Given the description of an element on the screen output the (x, y) to click on. 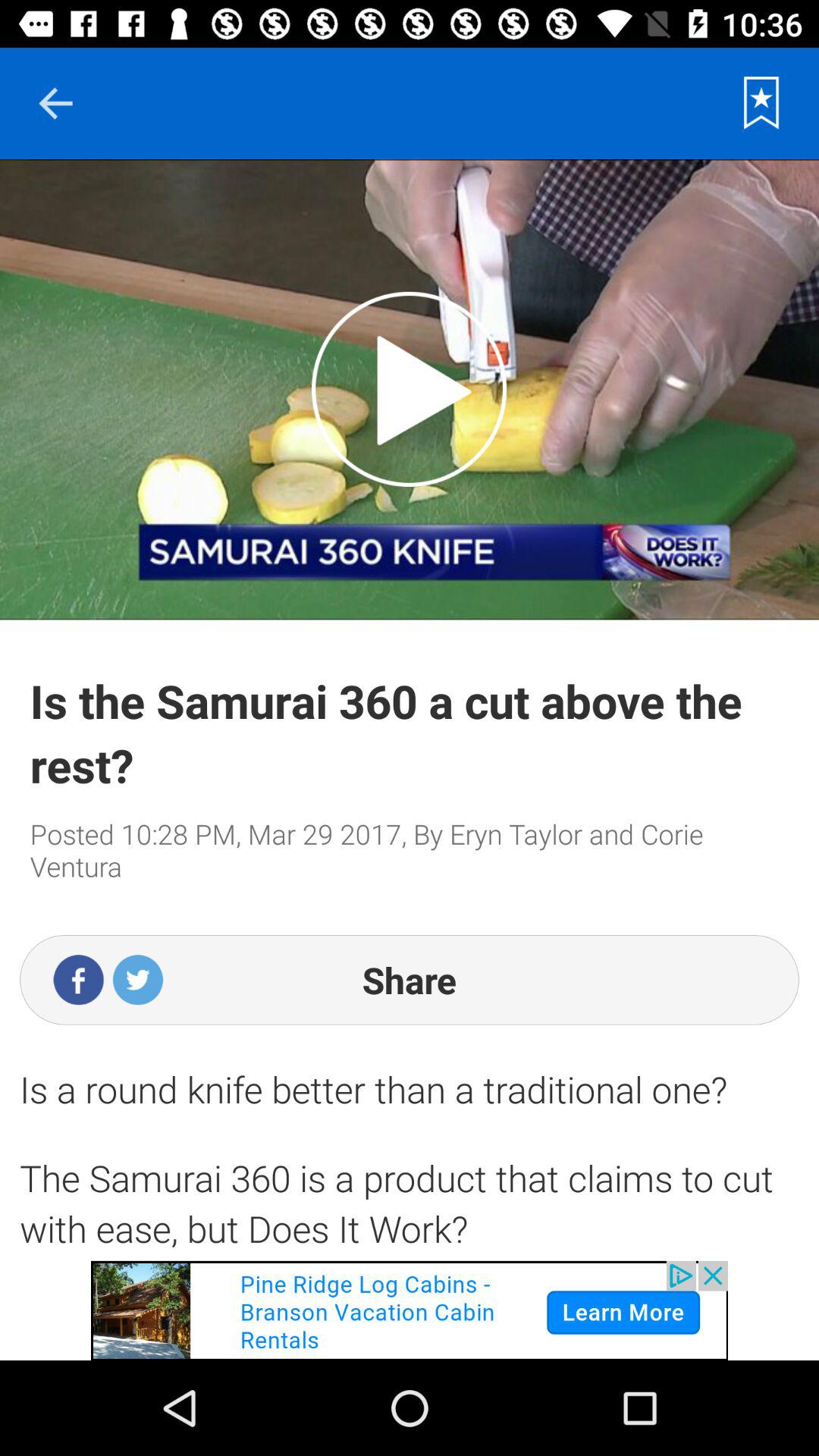
bookmark (761, 102)
